Given the description of an element on the screen output the (x, y) to click on. 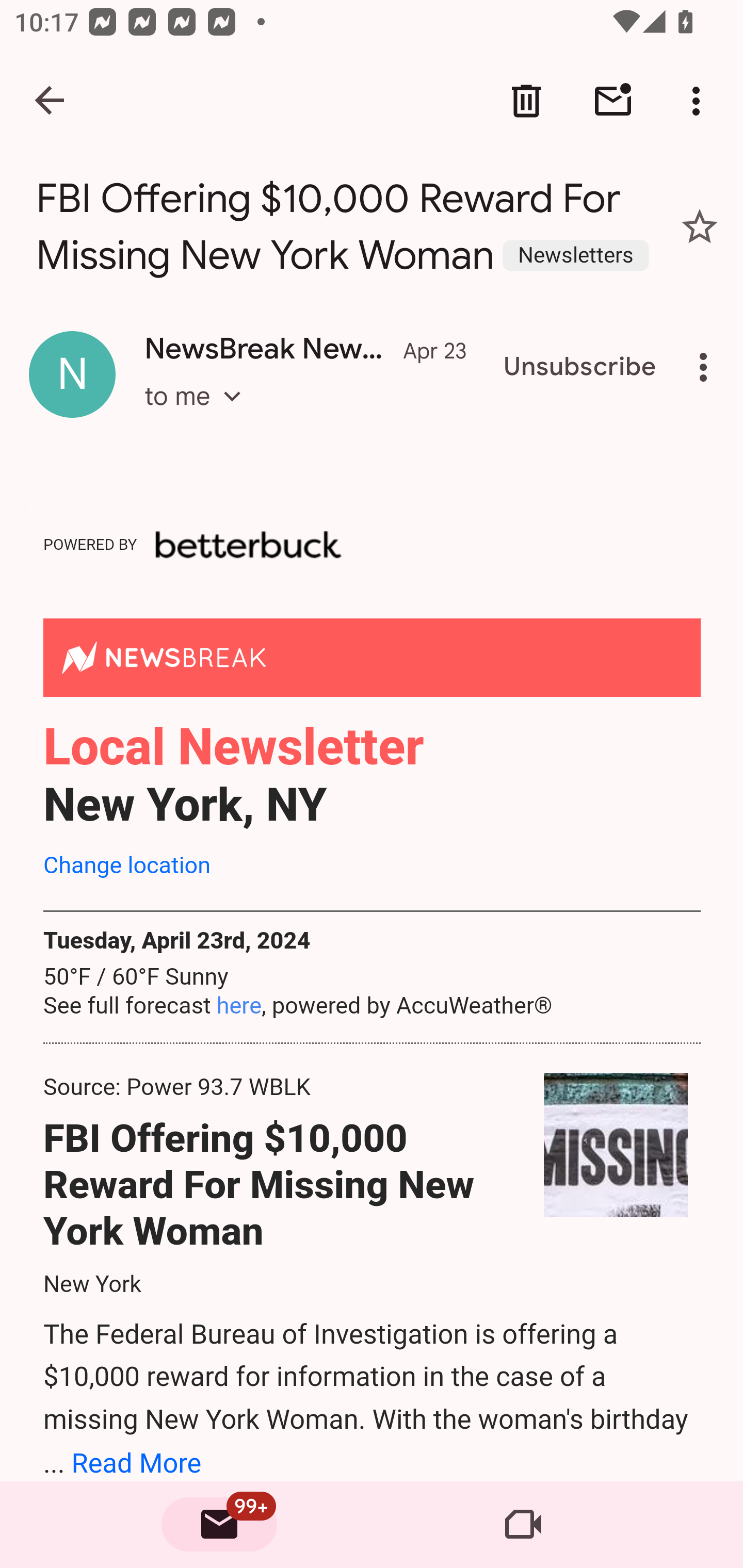
Navigate up (50, 101)
Delete (525, 101)
Mark unread (612, 101)
More options (699, 101)
Add star (699, 226)
Unsubscribe (579, 367)
More options (706, 367)
Show contact information for NewsBreak New York (71, 373)
to me (199, 414)
Meet (523, 1524)
